Given the description of an element on the screen output the (x, y) to click on. 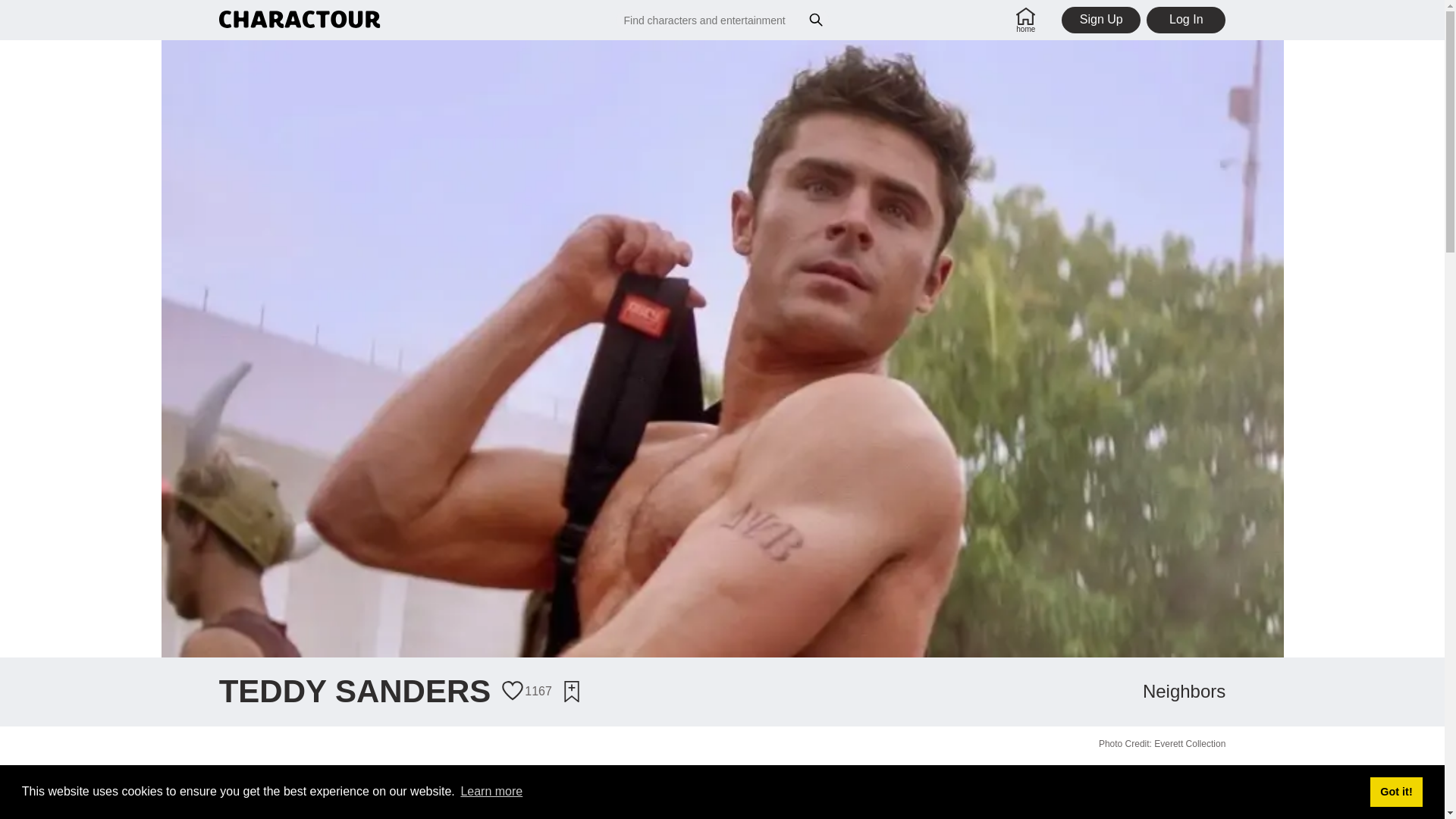
Got it! (1396, 791)
Log In (1186, 19)
Learn more (491, 791)
Sign Up (1100, 19)
